Given the description of an element on the screen output the (x, y) to click on. 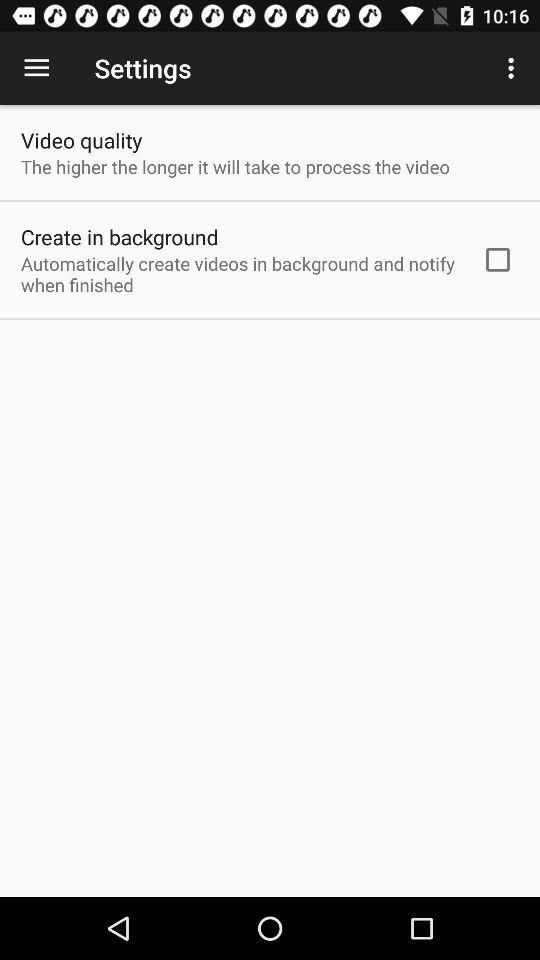
select the icon next to settings item (513, 67)
